Given the description of an element on the screen output the (x, y) to click on. 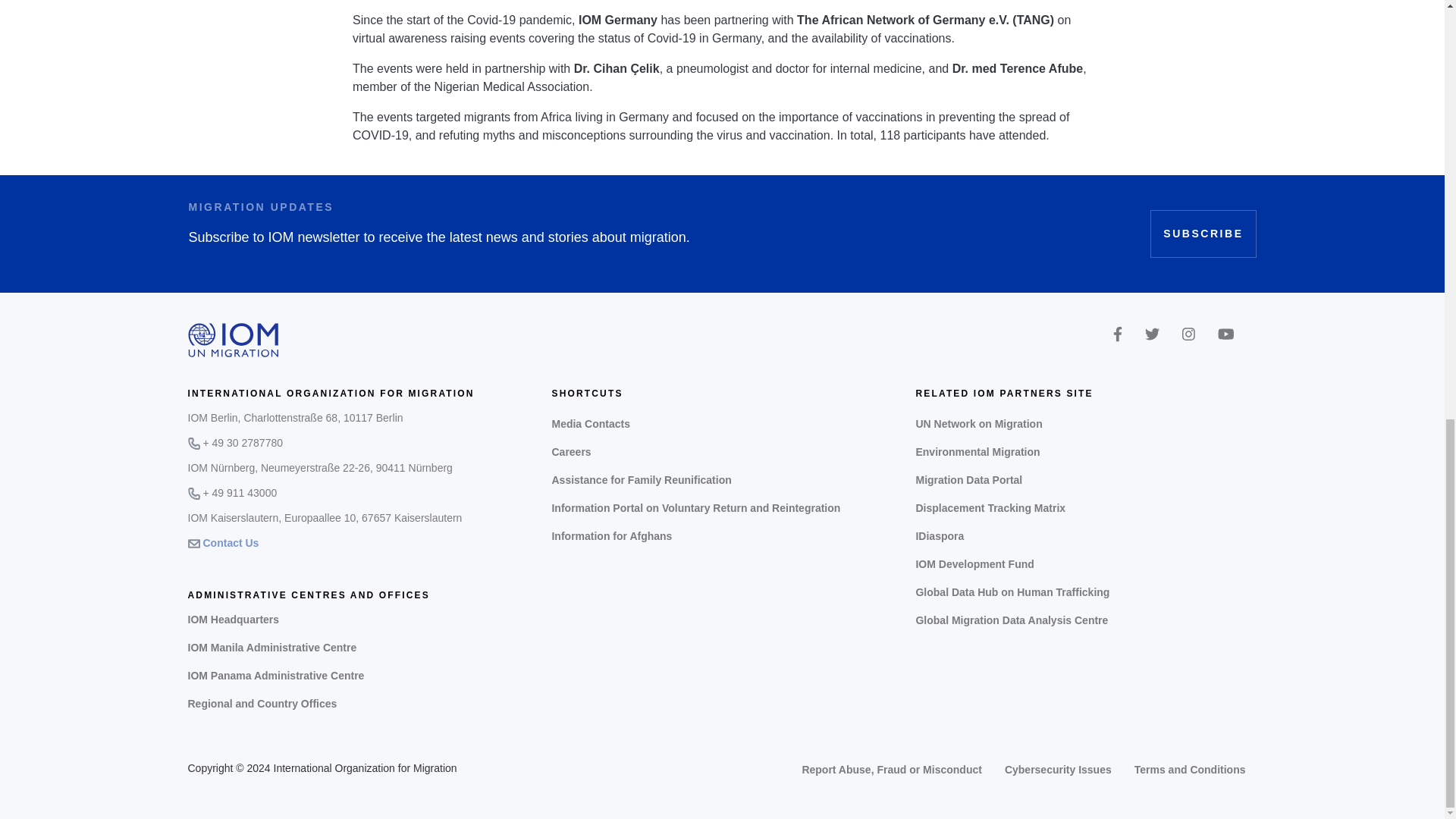
Contact Us (231, 543)
Home (233, 339)
